Given the description of an element on the screen output the (x, y) to click on. 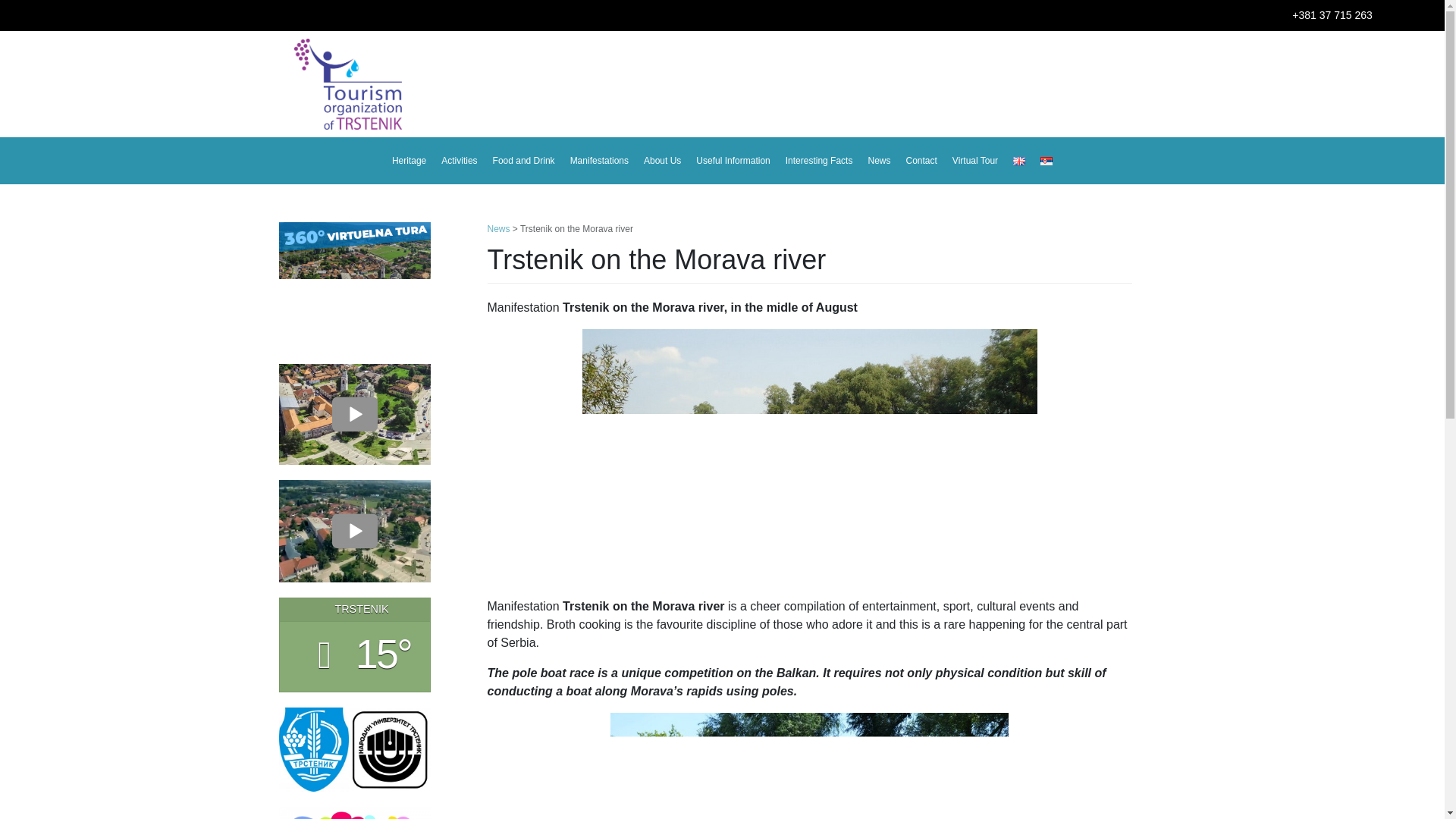
Food and Drink (523, 160)
Activities (459, 160)
Heritage (408, 160)
About Us (662, 160)
Useful Information (732, 160)
Contact (920, 160)
Manifestations (599, 160)
English (1019, 161)
News (878, 160)
Virtual Tour (974, 160)
